Given the description of an element on the screen output the (x, y) to click on. 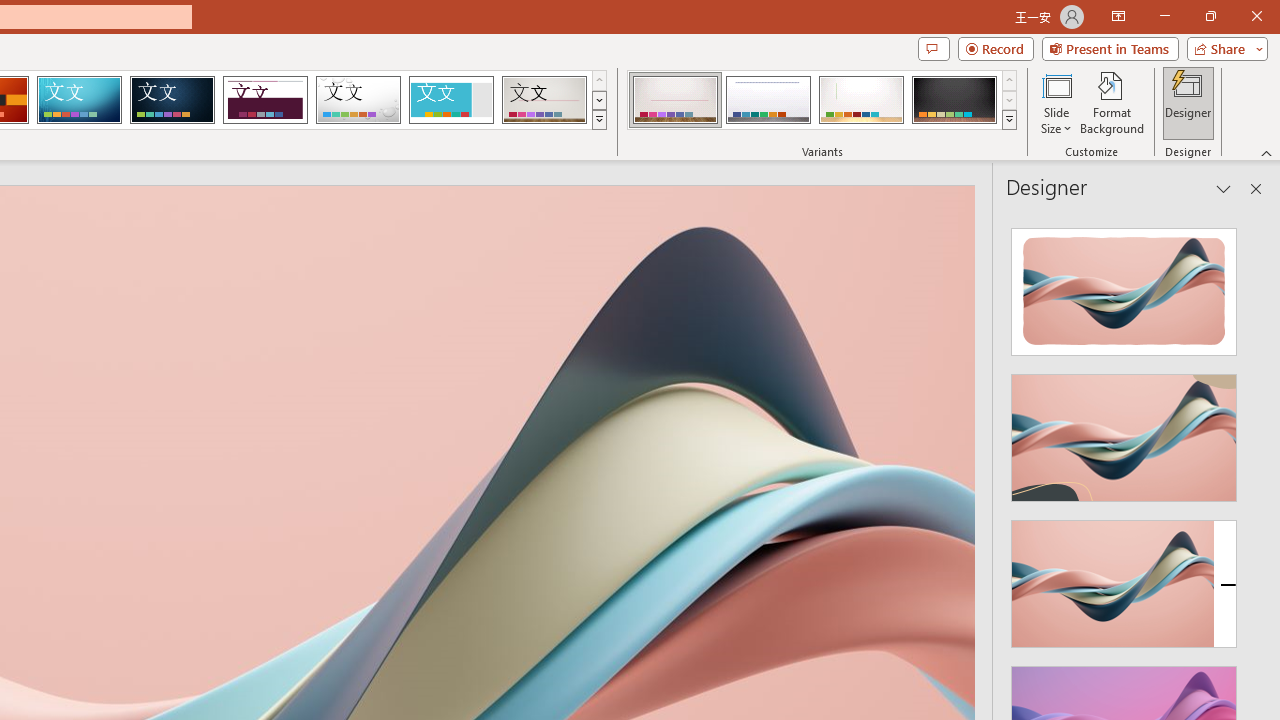
Damask (171, 100)
Droplet (358, 100)
Dividend (265, 100)
Gallery Variant 3 (861, 100)
